Given the description of an element on the screen output the (x, y) to click on. 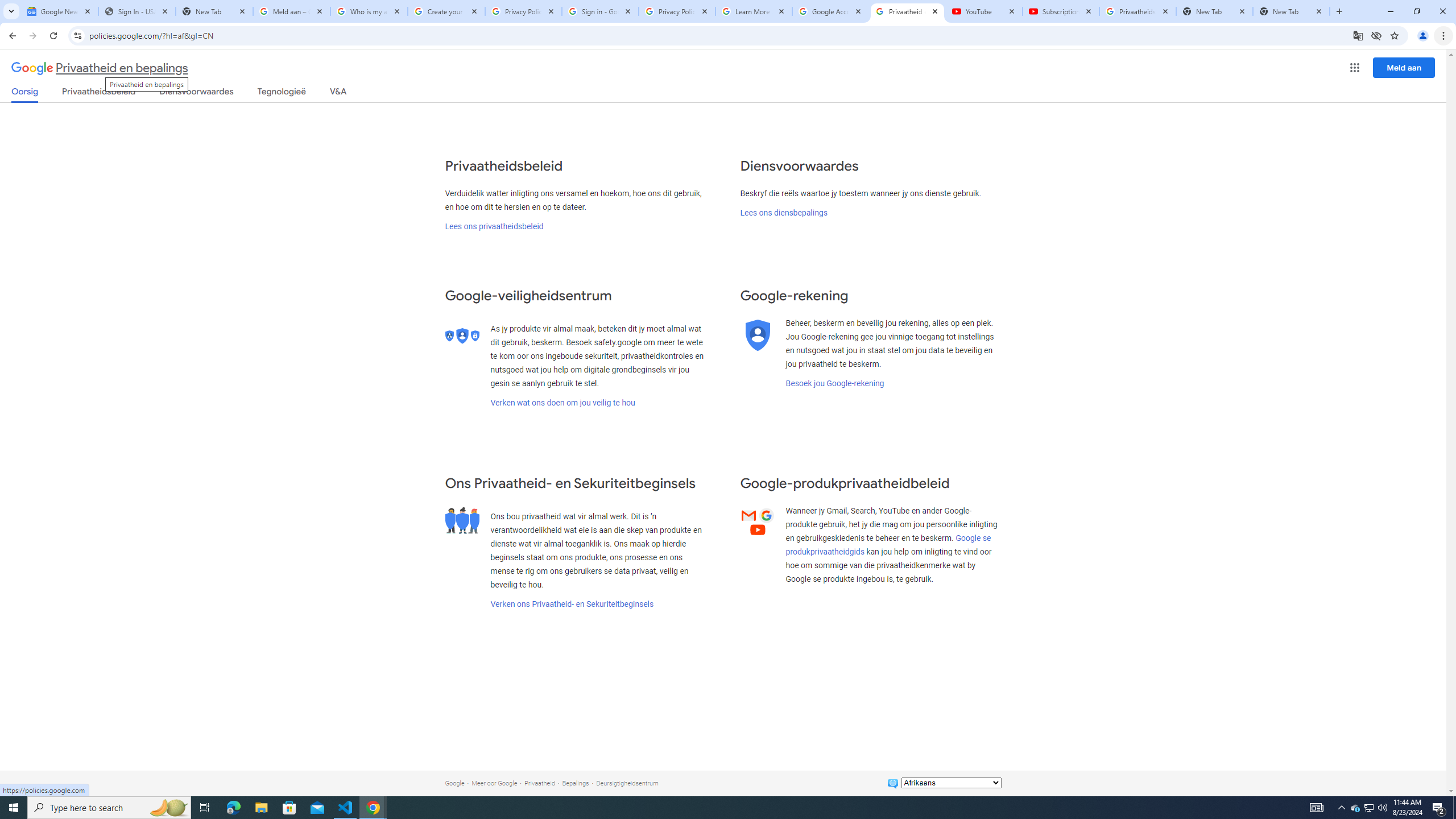
Google Account (830, 11)
Who is my administrator? - Google Account Help (368, 11)
Translate this page (1358, 35)
Create your Google Account (446, 11)
Google se produkprivaatheidgids (887, 544)
Privaatheid (539, 783)
Oorsig (25, 94)
